Given the description of an element on the screen output the (x, y) to click on. 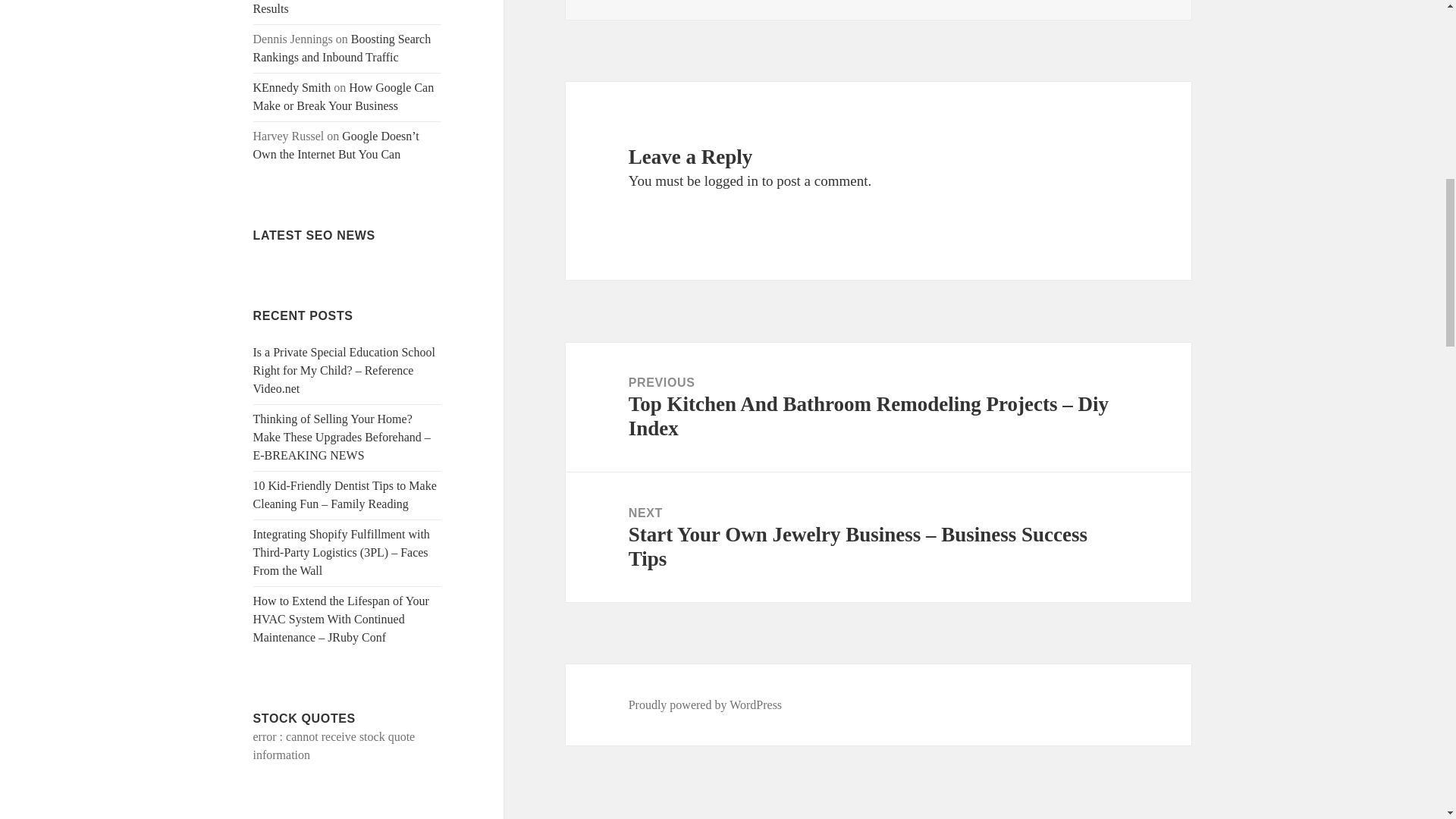
Boosting Search Rankings and Inbound Traffic (341, 47)
KEnnedy Smith (292, 87)
How Google Can Make or Break Your Business (343, 96)
